Given the description of an element on the screen output the (x, y) to click on. 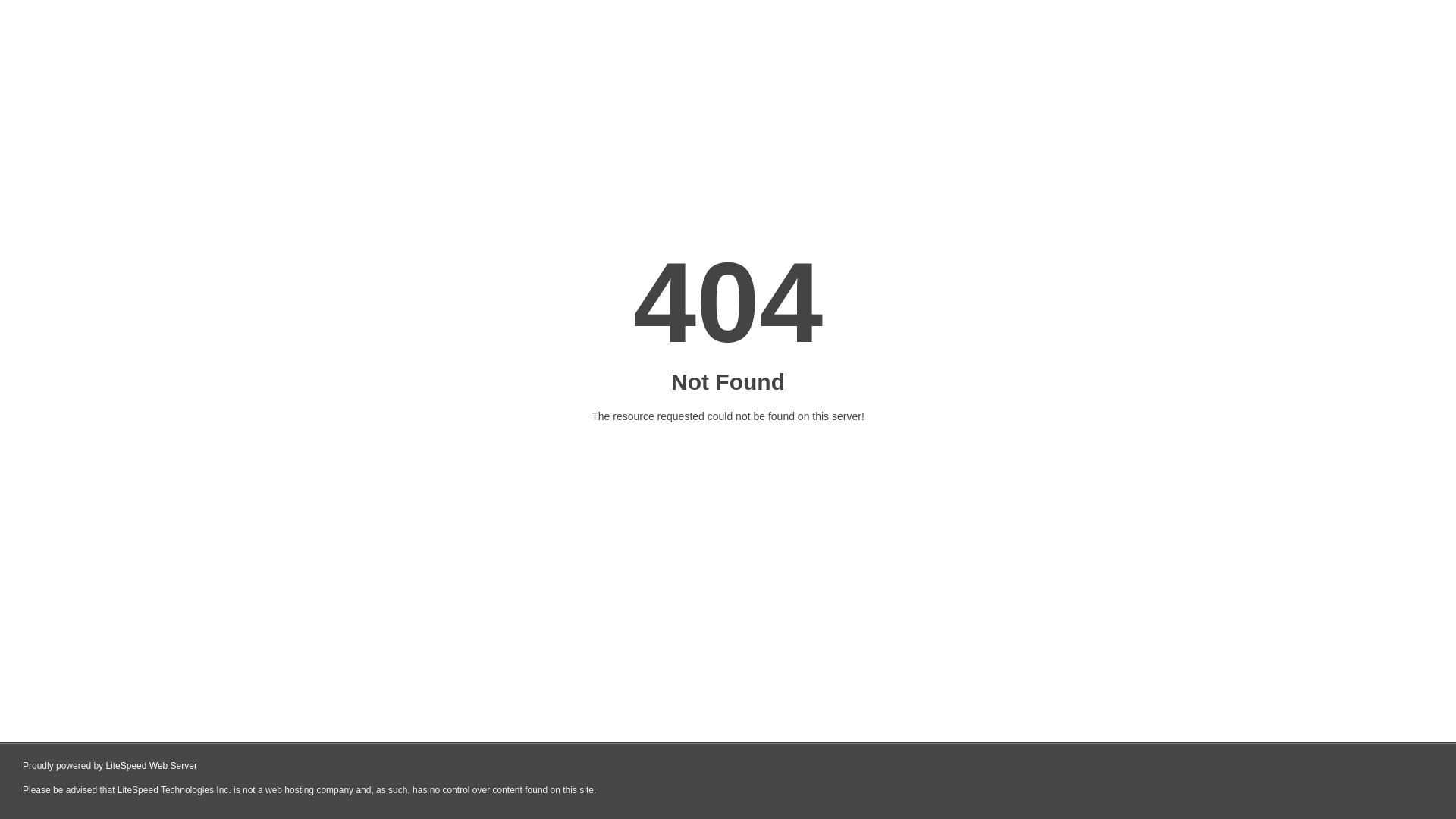
LiteSpeed Web Server Element type: text (151, 765)
